Given the description of an element on the screen output the (x, y) to click on. 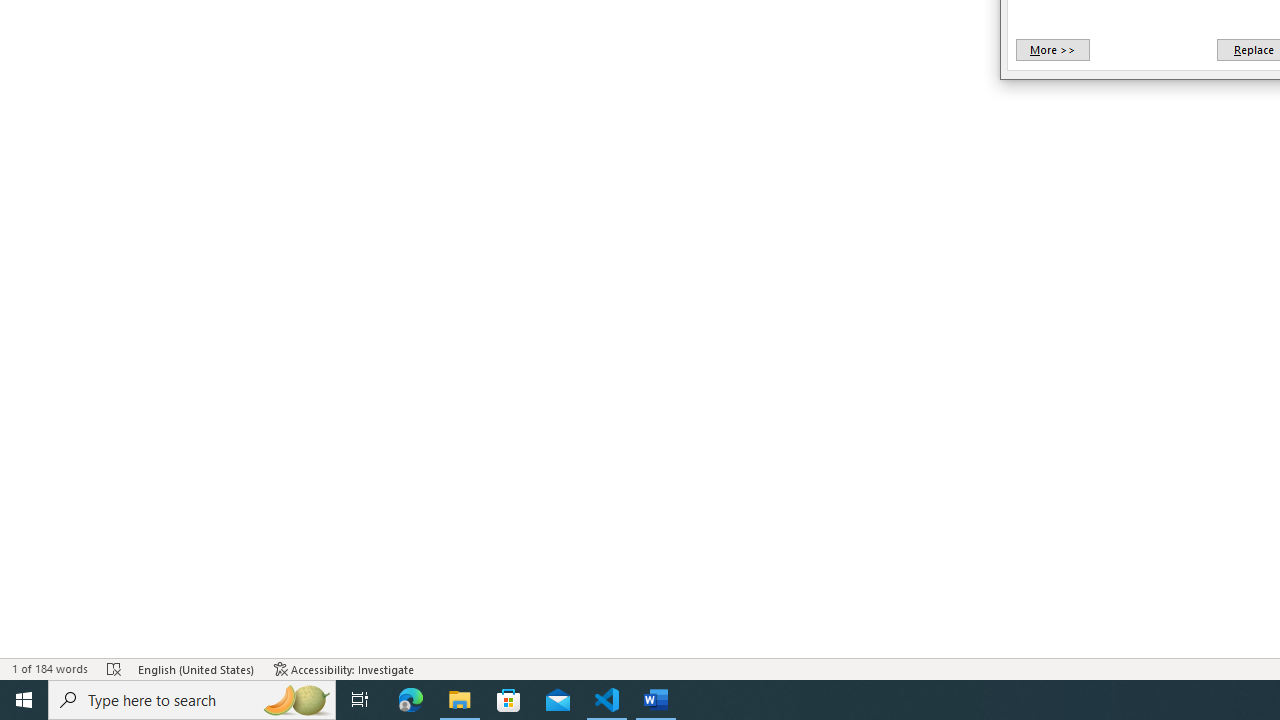
More >> (1052, 49)
Word - 1 running window (656, 699)
Microsoft Edge (411, 699)
Word Count 1 of 184 words (49, 668)
File Explorer - 1 running window (460, 699)
